Given the description of an element on the screen output the (x, y) to click on. 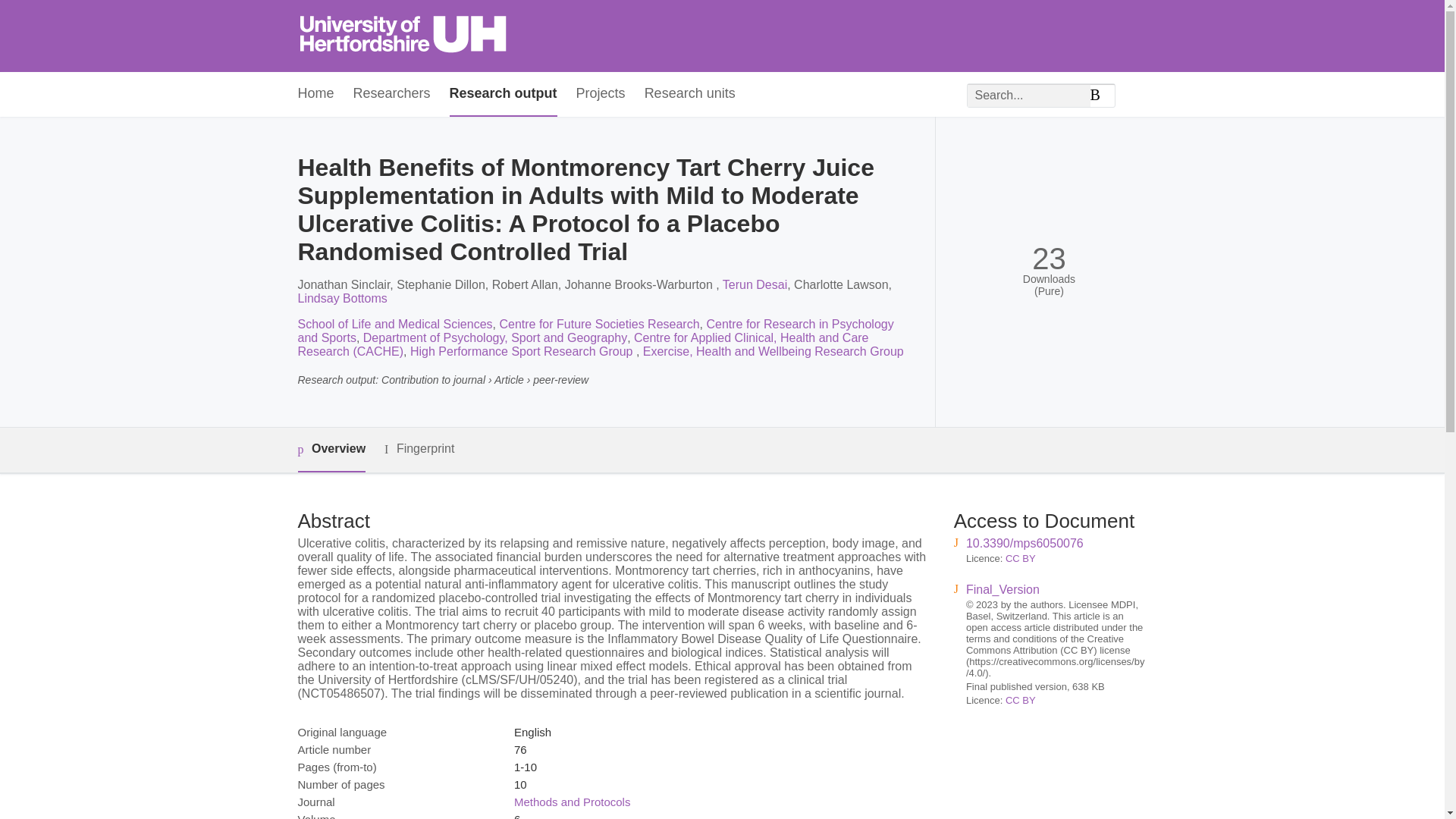
Projects (601, 94)
Department of Psychology, Sport and Geography (494, 337)
Methods and Protocols (571, 801)
Terun Desai (754, 284)
CC BY (1020, 558)
Overview (331, 449)
Fingerprint (419, 448)
CC BY (1020, 699)
Lindsay Bottoms (342, 297)
High Performance Sport Research Group (523, 350)
School of Life and Medical Sciences (394, 323)
Researchers (391, 94)
Research units (690, 94)
Exercise, Health and Wellbeing Research Group (773, 350)
